Given the description of an element on the screen output the (x, y) to click on. 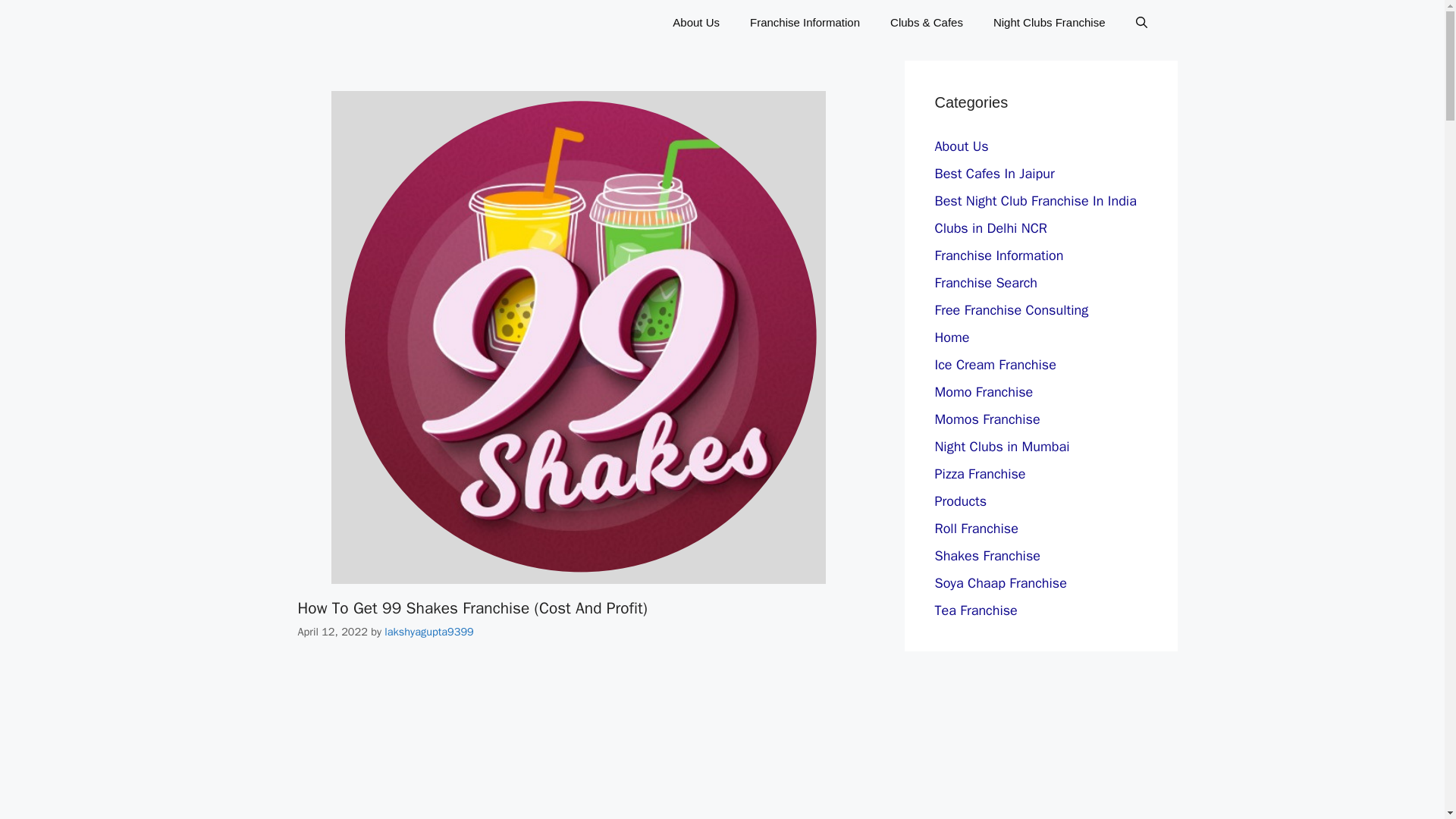
Franchise Information (805, 22)
Clubs in Delhi NCR (990, 228)
Night Clubs Franchise (1049, 22)
Best Cafes In Jaipur (994, 173)
Tea Franchise (975, 610)
Home (951, 337)
lakshyagupta9399 (428, 631)
Shakes Franchise (986, 555)
Night Clubs in Mumbai (1001, 446)
Best Night Club Franchise In India (1034, 200)
Soya Chaap Franchise (999, 582)
About Us (961, 146)
Advertisement (413, 742)
View all posts by lakshyagupta9399 (428, 631)
Products (960, 501)
